Given the description of an element on the screen output the (x, y) to click on. 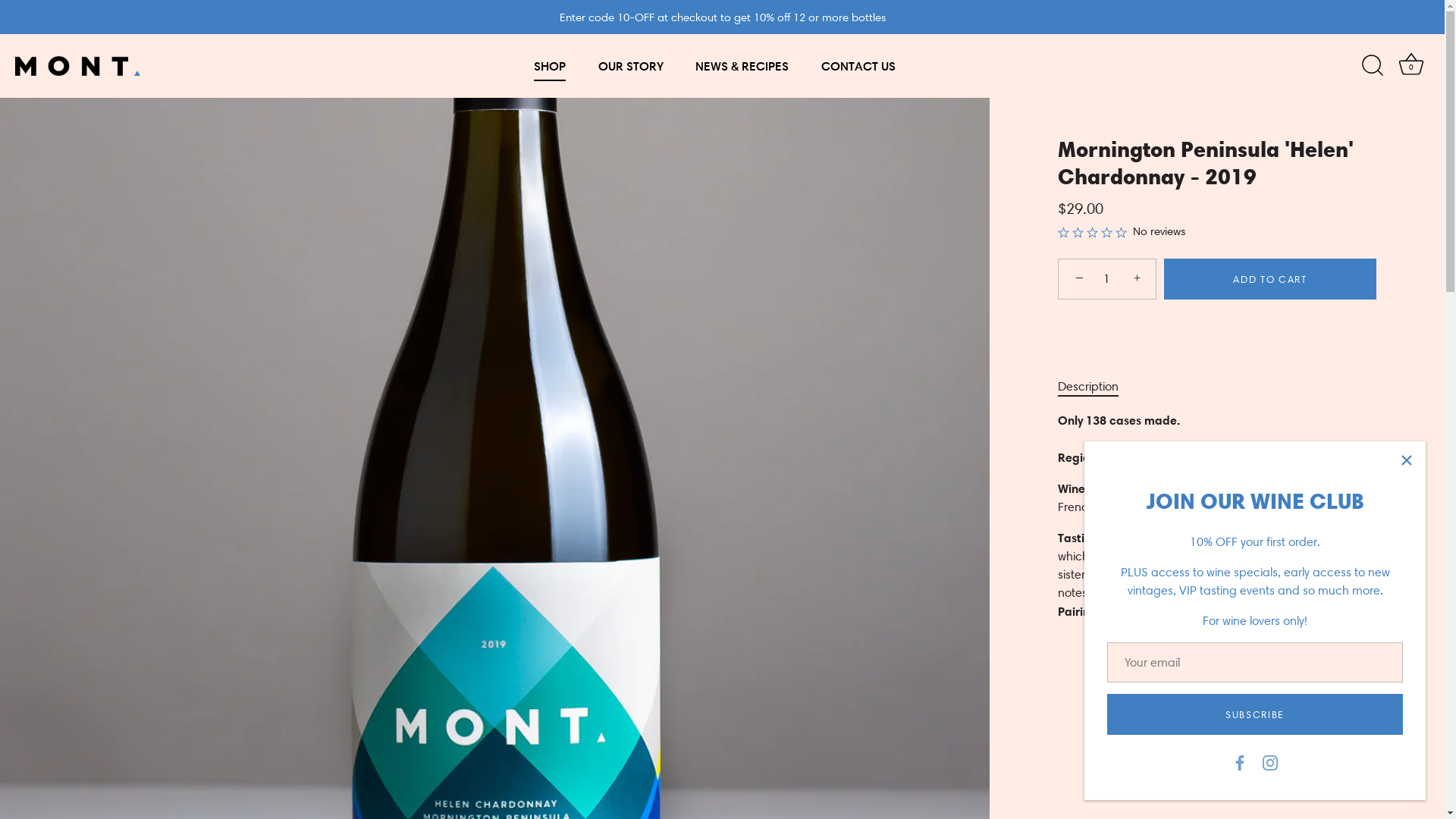
ADD TO CART Element type: text (1270, 278)
Instagram Element type: text (1269, 761)
SHOP Element type: text (549, 65)
OUR STORY Element type: text (630, 65)
+ Element type: text (1138, 277)
NEWS & RECIPES Element type: text (741, 65)
Description Element type: text (1087, 386)
CONTACT US Element type: text (858, 65)
SUBSCRIBE Element type: text (1254, 713)
Basket
0 Element type: text (1410, 65)
